Given the description of an element on the screen output the (x, y) to click on. 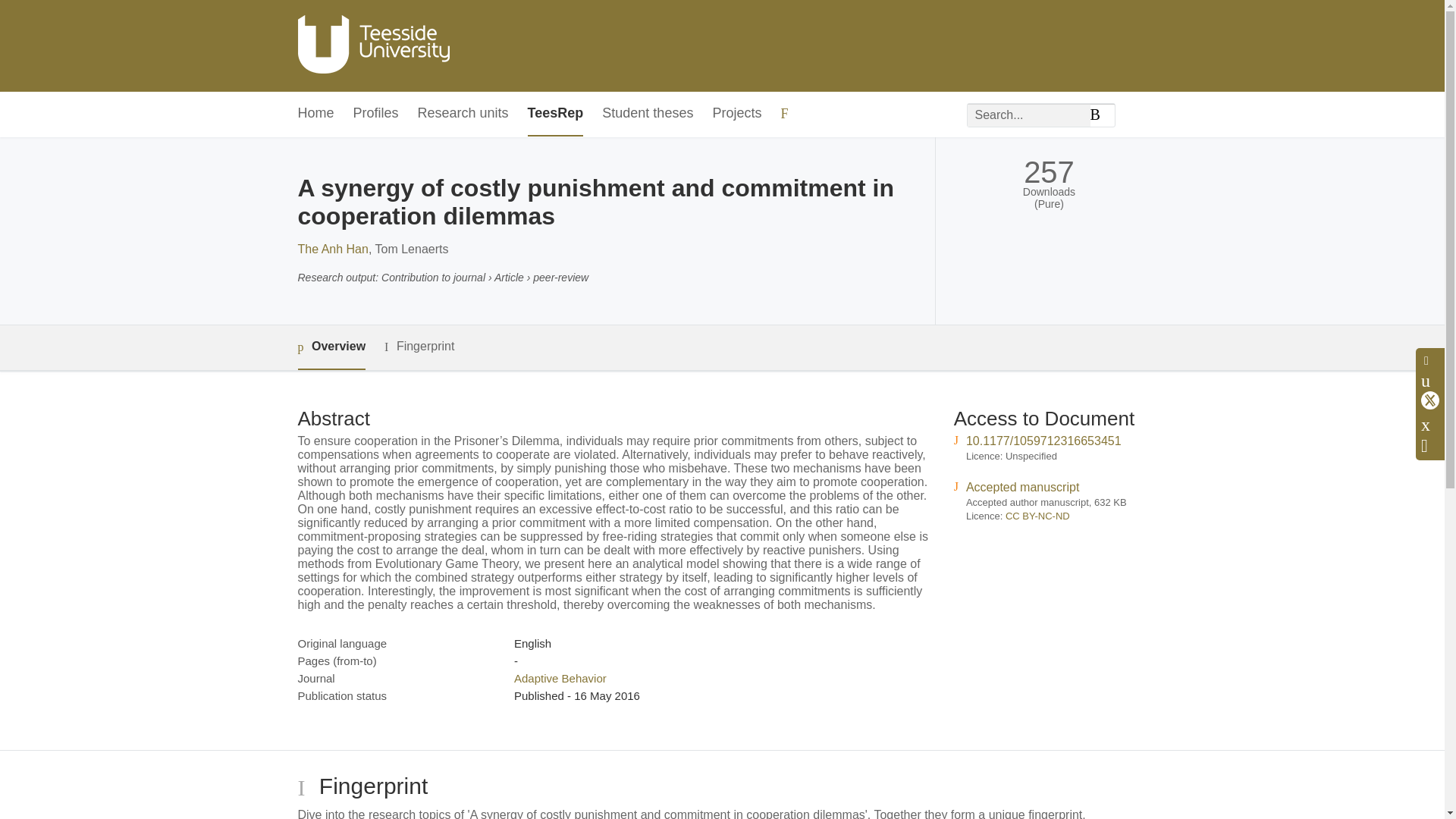
Projects (736, 113)
Overview (331, 347)
CC BY-NC-ND (1038, 515)
Teesside University's Research Portal Home (372, 45)
Accepted manuscript (1022, 486)
Profiles (375, 113)
Research units (462, 113)
Fingerprint (419, 346)
The Anh Han (332, 248)
Student theses (647, 113)
TeesRep (555, 113)
Adaptive Behavior (560, 677)
